Given the description of an element on the screen output the (x, y) to click on. 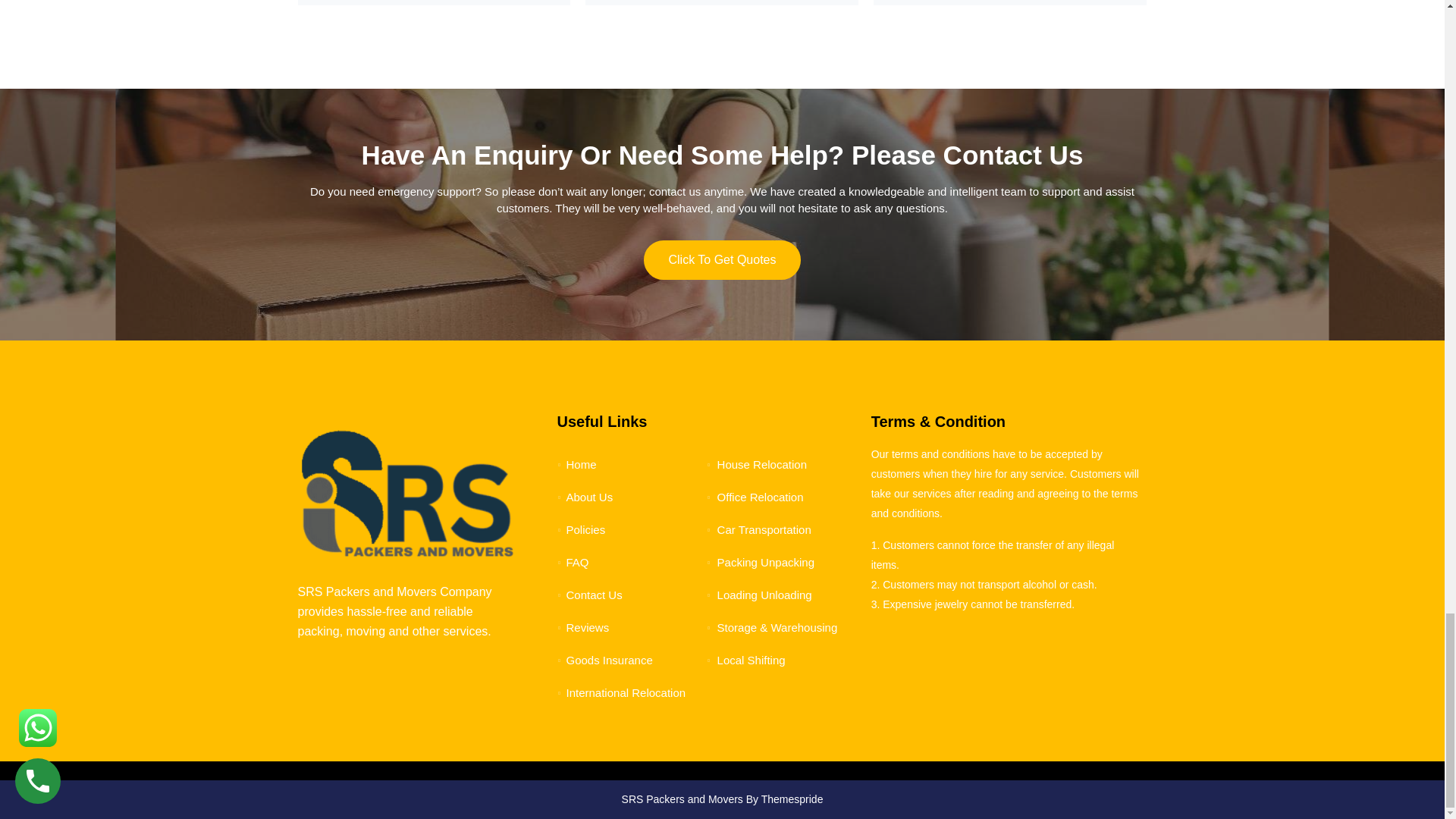
Home (575, 464)
Click To Get Quotes (721, 260)
About Us (584, 497)
